Given the description of an element on the screen output the (x, y) to click on. 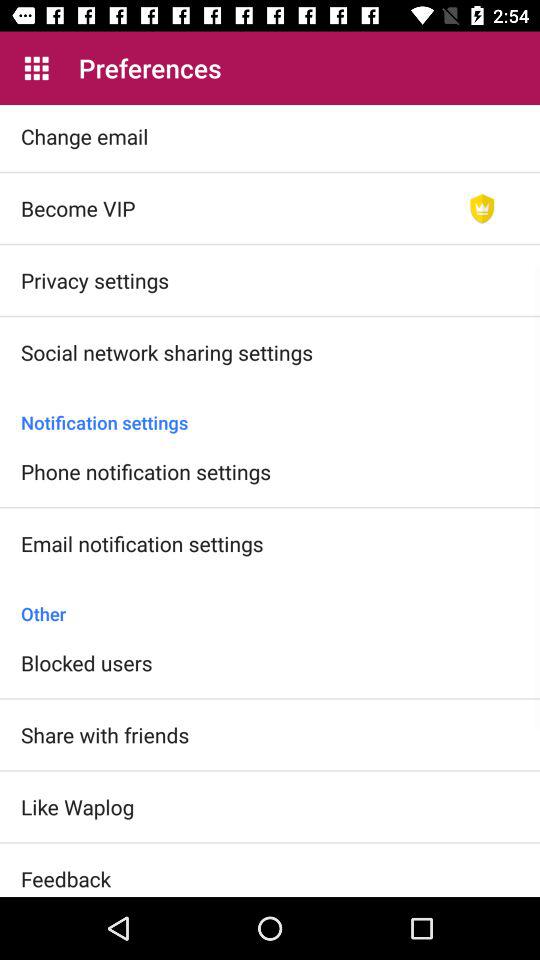
scroll to change email (84, 136)
